Given the description of an element on the screen output the (x, y) to click on. 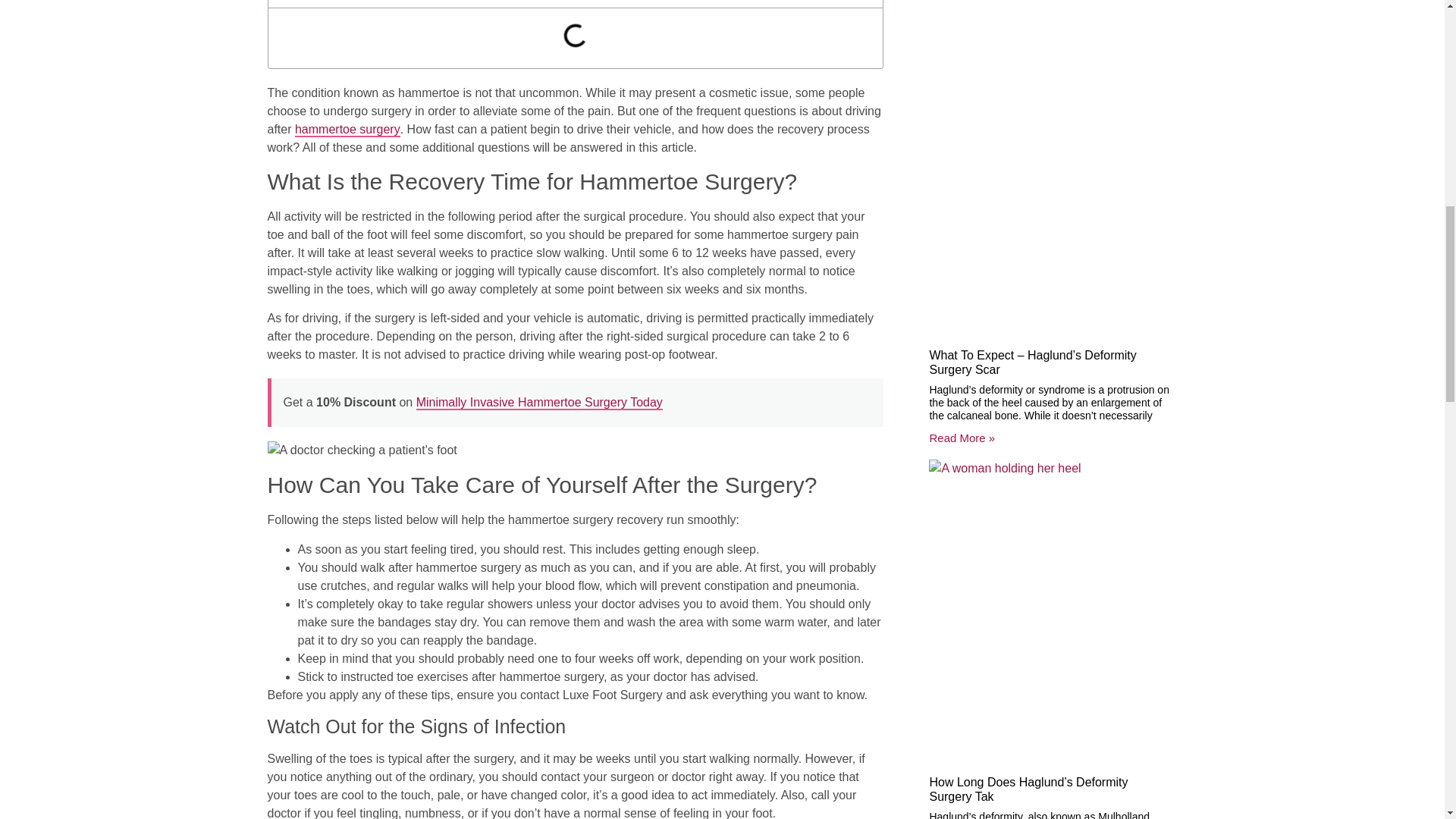
Driving After Hammertoe Surgery 1 (361, 450)
